Given the description of an element on the screen output the (x, y) to click on. 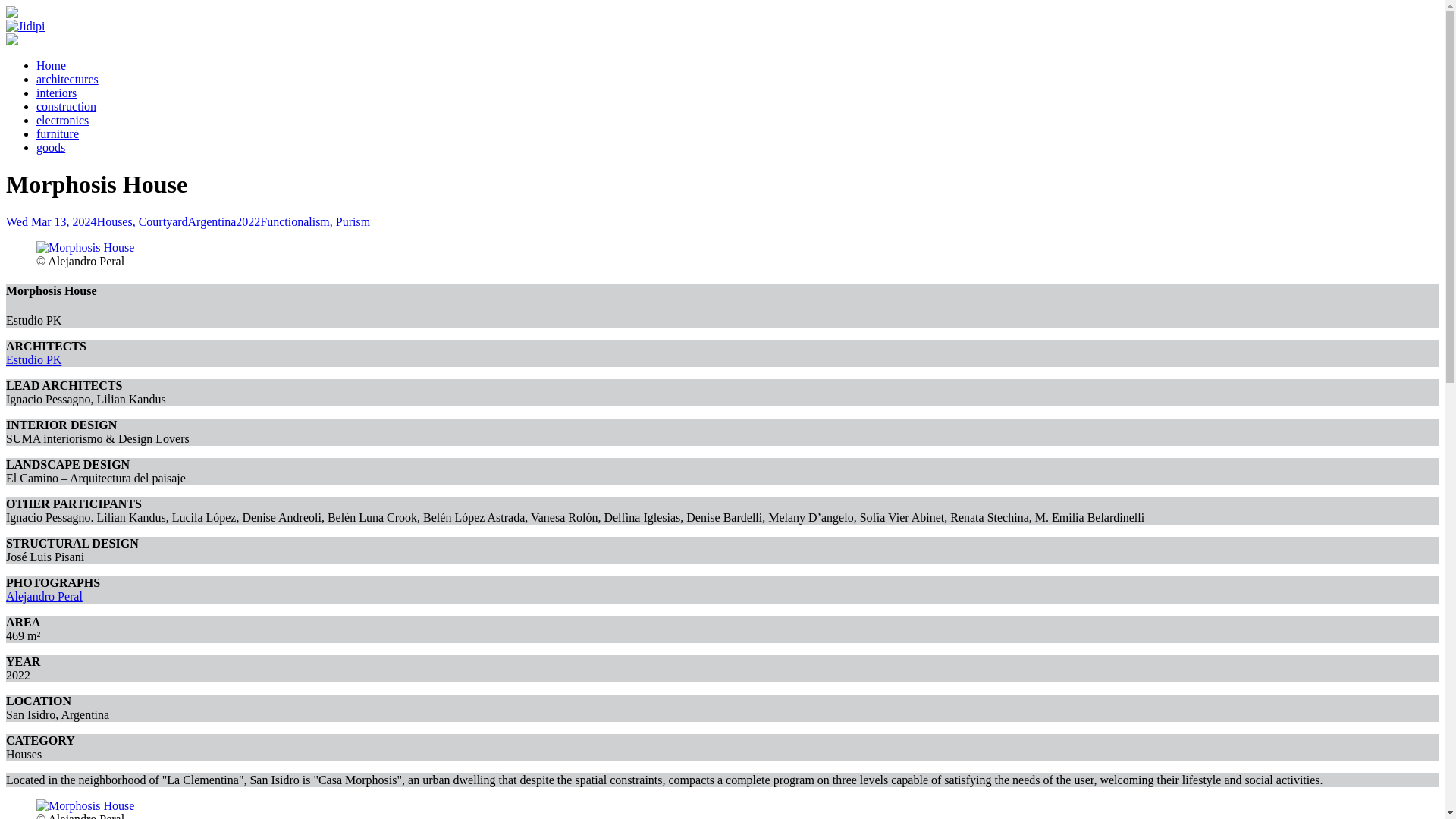
Morphosis House (84, 805)
Argentina (211, 221)
furniture (57, 133)
architectures (67, 78)
Houses (117, 221)
Purism (352, 221)
Functionalism, (298, 221)
Wed Mar 13, 2024 (51, 221)
Houses, (117, 221)
Functionalism (298, 221)
